Given the description of an element on the screen output the (x, y) to click on. 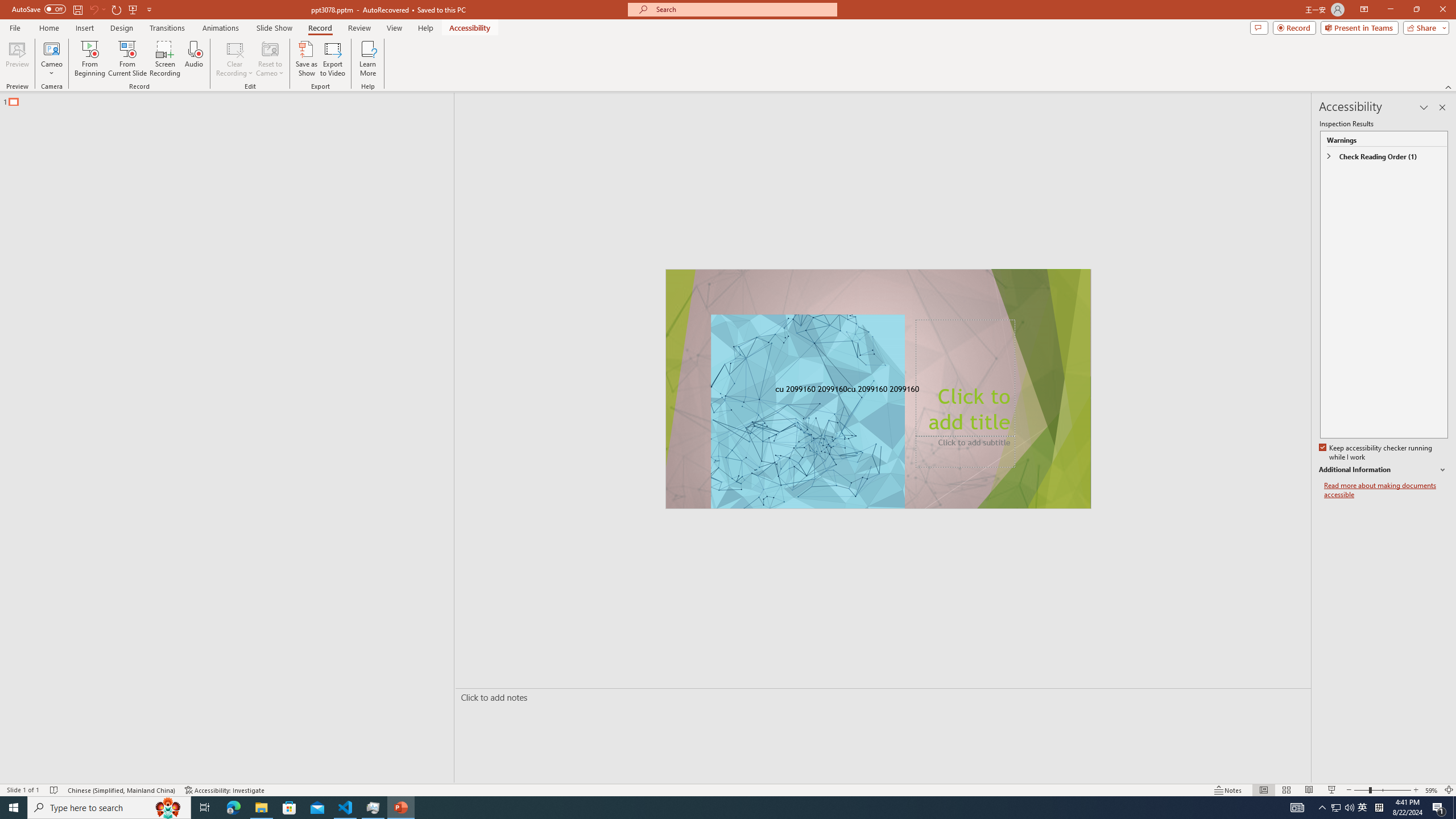
Subtitle TextBox (964, 451)
Reset to Cameo (269, 58)
Rectangle (221, 437)
Audio (193, 58)
Slide Notes (880, 697)
